Given the description of an element on the screen output the (x, y) to click on. 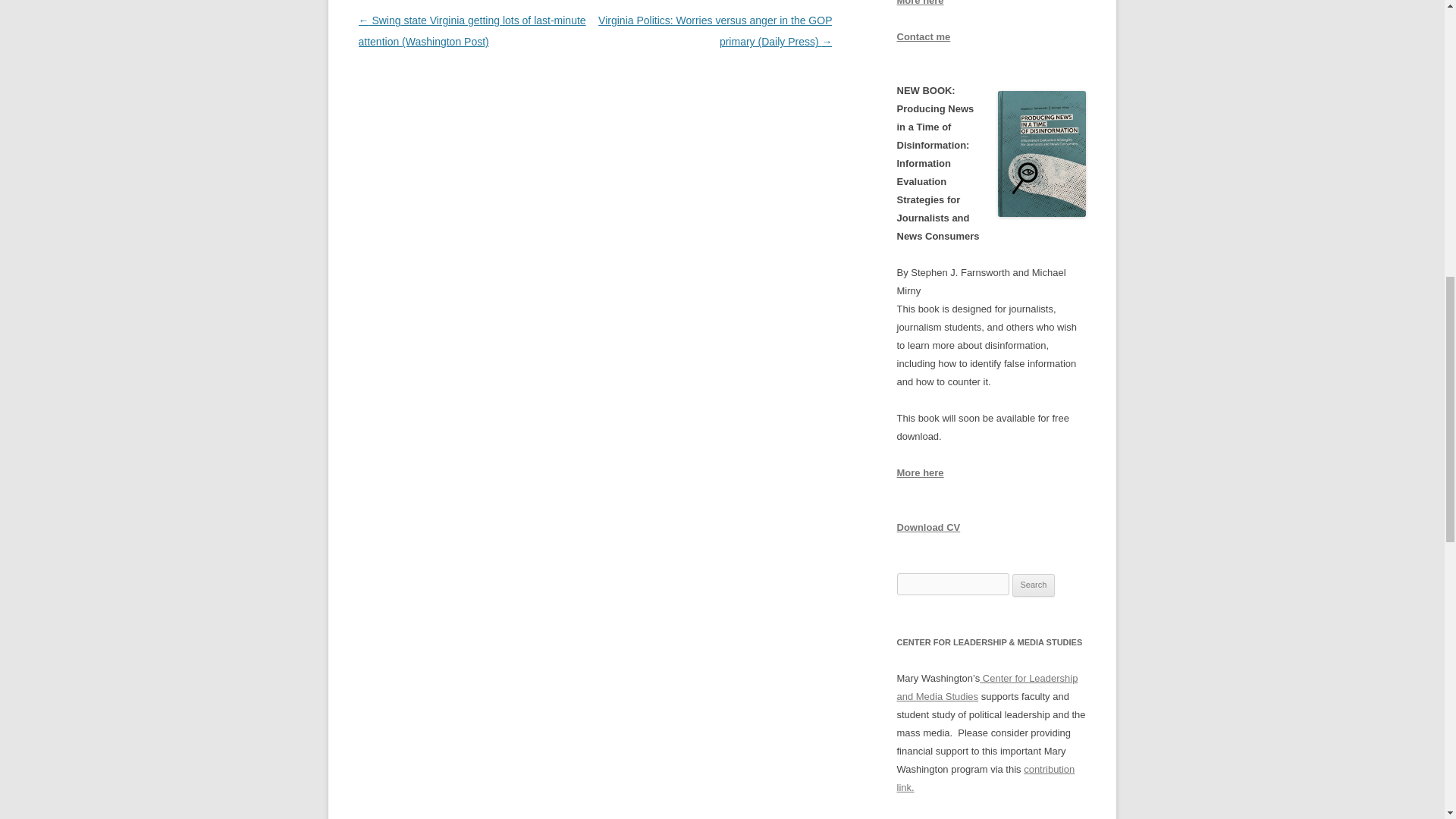
Search (1033, 585)
Download CV (927, 527)
Contact me (923, 36)
More here (919, 472)
Center for Leadership and Media Studies (986, 686)
Search (1033, 585)
contribution link. (985, 778)
More here (919, 2)
